Given the description of an element on the screen output the (x, y) to click on. 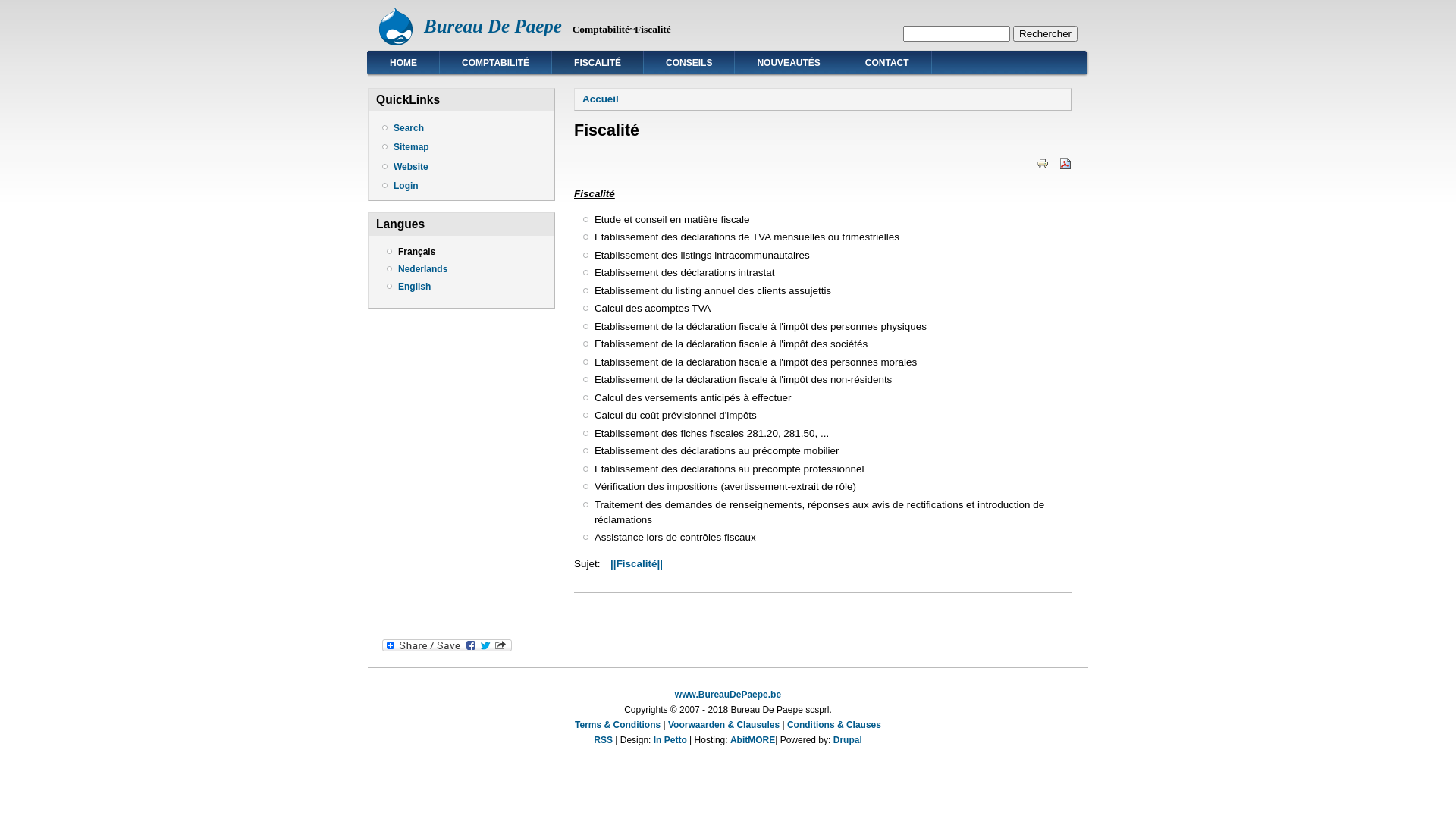
Accueil Element type: hover (395, 41)
Accueil Element type: text (600, 98)
Rechercher Element type: text (1045, 33)
Website Element type: text (465, 166)
Search Element type: text (465, 127)
Version imprimable Element type: hover (1042, 163)
In Petto Element type: text (670, 739)
Afficher une version imprimable de cette page. Element type: hover (1042, 163)
version PDF Element type: hover (1064, 163)
English Element type: text (414, 286)
AbitMORE Element type: text (752, 739)
www.BureauDePaepe.be Element type: text (727, 694)
CONTACT Element type: text (887, 62)
HOME Element type: text (403, 62)
Sitemap Element type: text (465, 146)
Login Element type: text (465, 185)
Nederlands Element type: text (422, 268)
Afficher la version PDF de cette page. Element type: hover (1064, 163)
Drupal Element type: text (847, 739)
RSS Element type: text (602, 739)
CONSEILS Element type: text (688, 62)
Voorwaarden & Clausules Element type: text (723, 724)
Terms & Conditions Element type: text (617, 724)
Bureau De Paepe Element type: text (492, 25)
Conditions & Clauses Element type: text (834, 724)
